Given the description of an element on the screen output the (x, y) to click on. 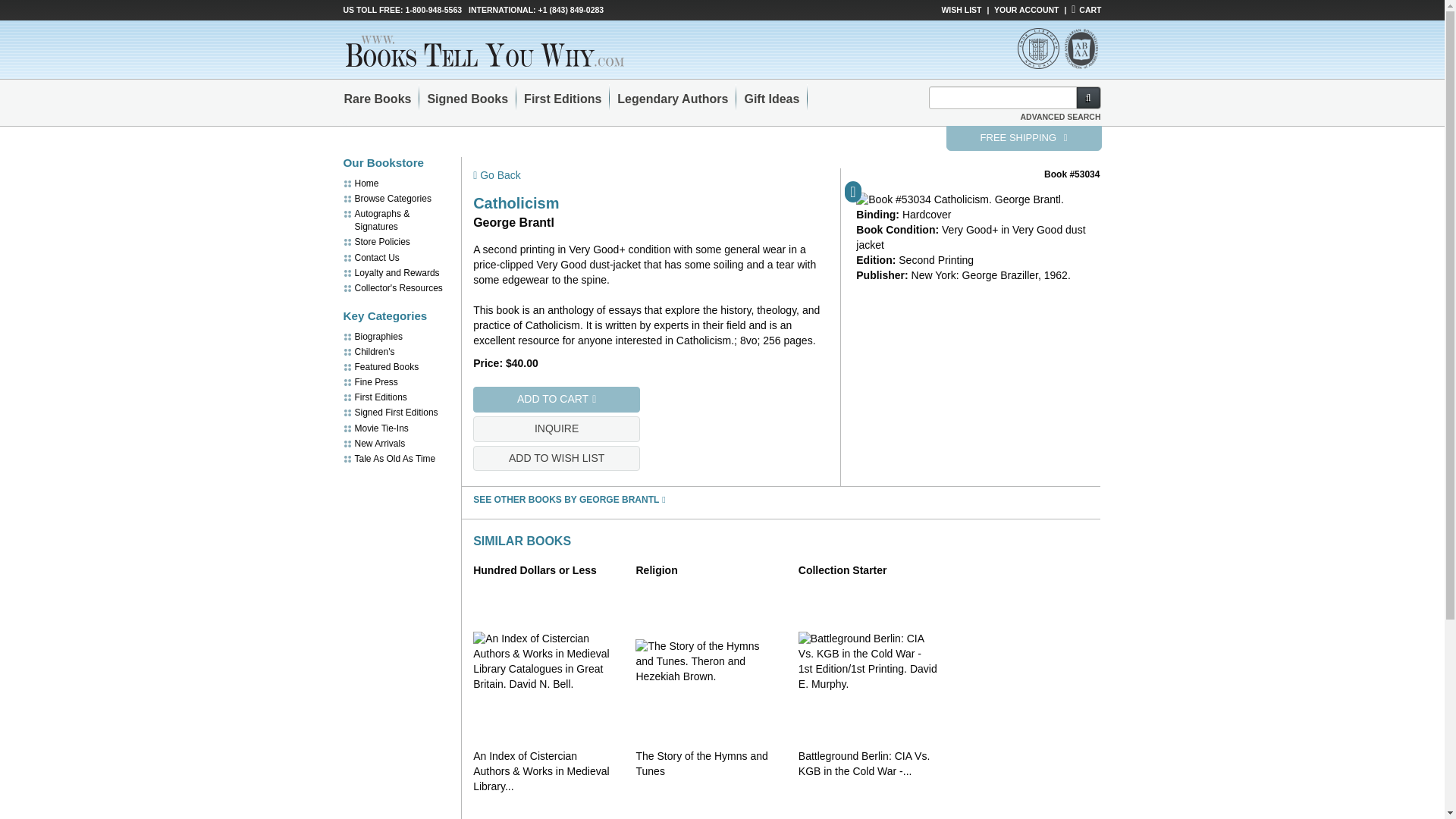
Gift Ideas (771, 99)
WISH LIST (960, 9)
Rare Books (377, 99)
YOUR ACCOUNT (1026, 9)
Signed Books (467, 99)
Legendary Authors (672, 99)
1-800-948-5563 (432, 9)
CART (1085, 9)
Skip to main content (8, 7)
Books Tell You Why, Inc. (493, 50)
First Editions (562, 99)
